Given the description of an element on the screen output the (x, y) to click on. 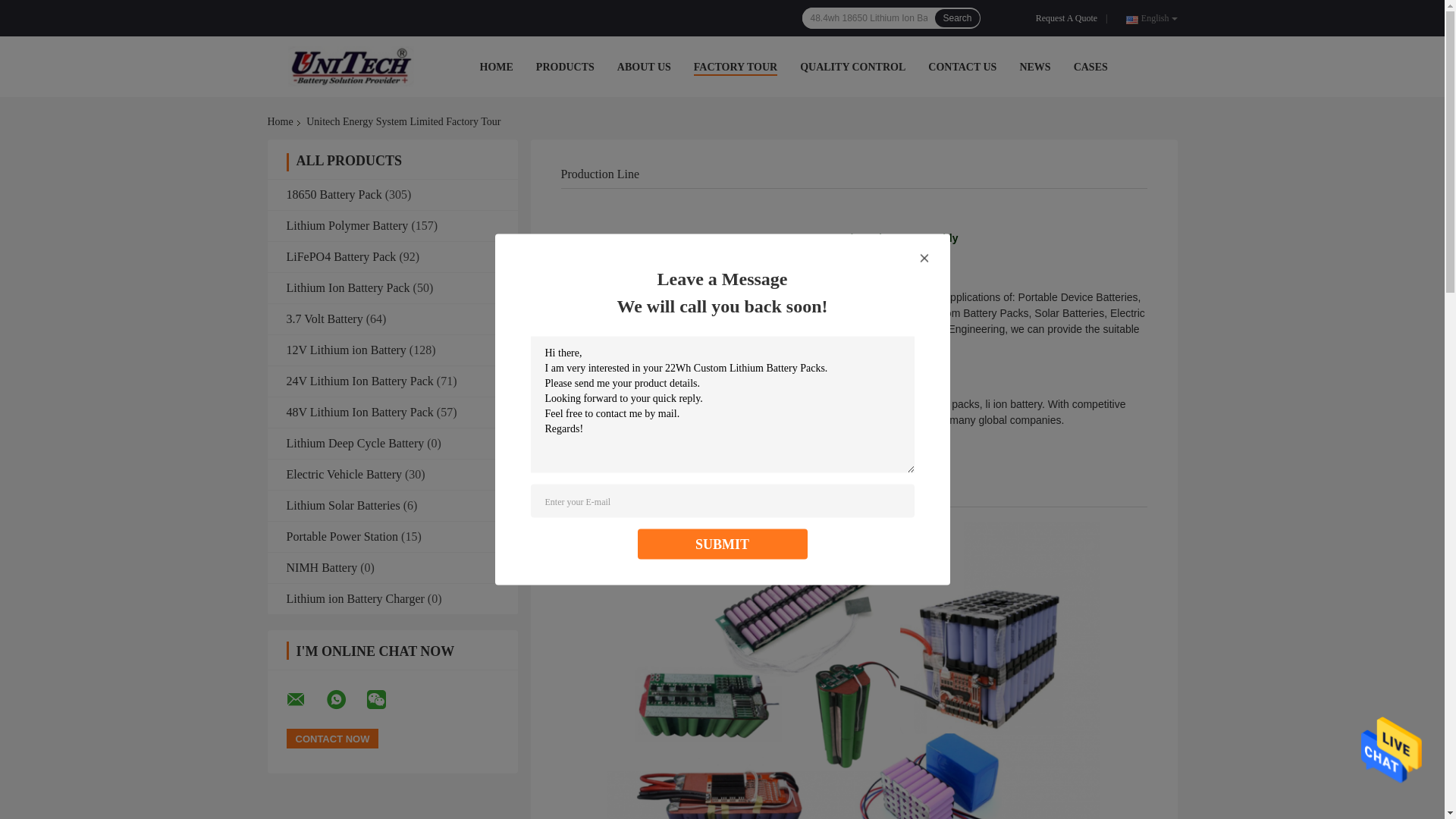
Unitech Energy System Limited Element type: hover (349, 66)
Request A Quote Element type: text (1069, 18)
Unitech Energy System Limited whatsapp Element type: hover (345, 699)
48V Lithium Ion Battery Pack Element type: text (359, 411)
3.7 Volt Battery Element type: text (324, 318)
24V Lithium Ion Battery Pack Element type: text (359, 380)
NEWS Element type: text (1034, 66)
Contact Now Element type: text (332, 738)
NIMH Battery Element type: text (321, 567)
ABOUT US Element type: text (644, 66)
Lithium Ion Battery Pack Element type: text (348, 287)
CASES Element type: text (1090, 66)
Unitech Energy System Limited email Element type: hover (305, 699)
Lithium Polymer Battery Element type: text (347, 225)
HOME Element type: text (495, 66)
Home Element type: text (282, 121)
12V Lithium ion Battery Element type: text (346, 349)
PRODUCTS Element type: text (565, 66)
Search Element type: text (957, 18)
Electric Vehicle Battery Element type: text (344, 473)
Portable Power Station Element type: text (342, 536)
LiFePO4 Battery Pack Element type: text (341, 256)
Lithium ion Battery Charger Element type: text (355, 598)
18650 Battery Pack Element type: text (334, 194)
CONTACT US Element type: text (962, 66)
Lithium Solar Batteries Element type: text (343, 504)
Unitech Energy System Limited wechat Element type: hover (385, 699)
QUALITY CONTROL Element type: text (852, 66)
FACTORY TOUR Element type: text (735, 66)
Lithium Deep Cycle Battery Element type: text (355, 442)
